Given the description of an element on the screen output the (x, y) to click on. 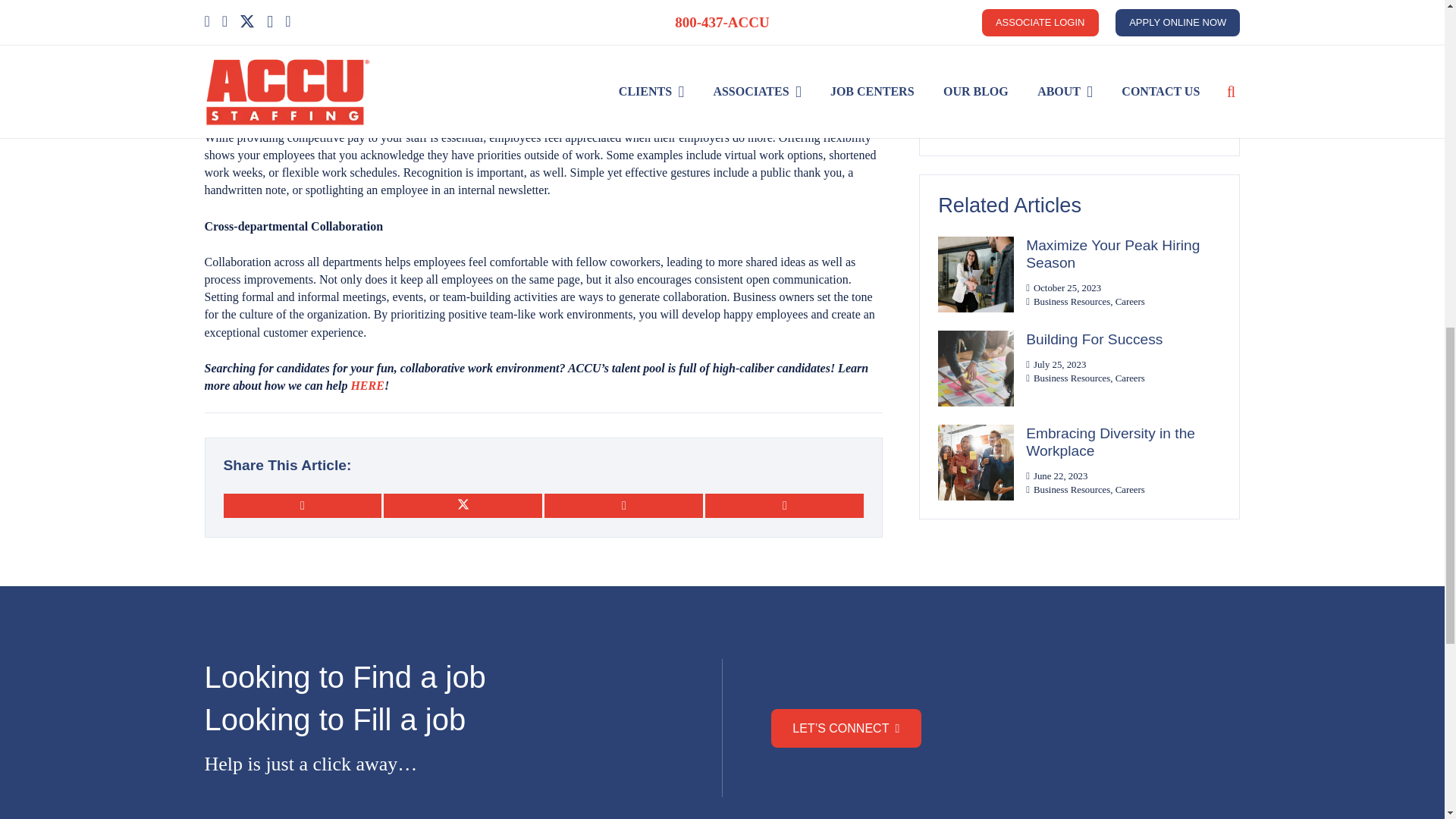
Share this (301, 505)
Pin this (783, 505)
Share this (623, 505)
Tweet this (462, 505)
